Given the description of an element on the screen output the (x, y) to click on. 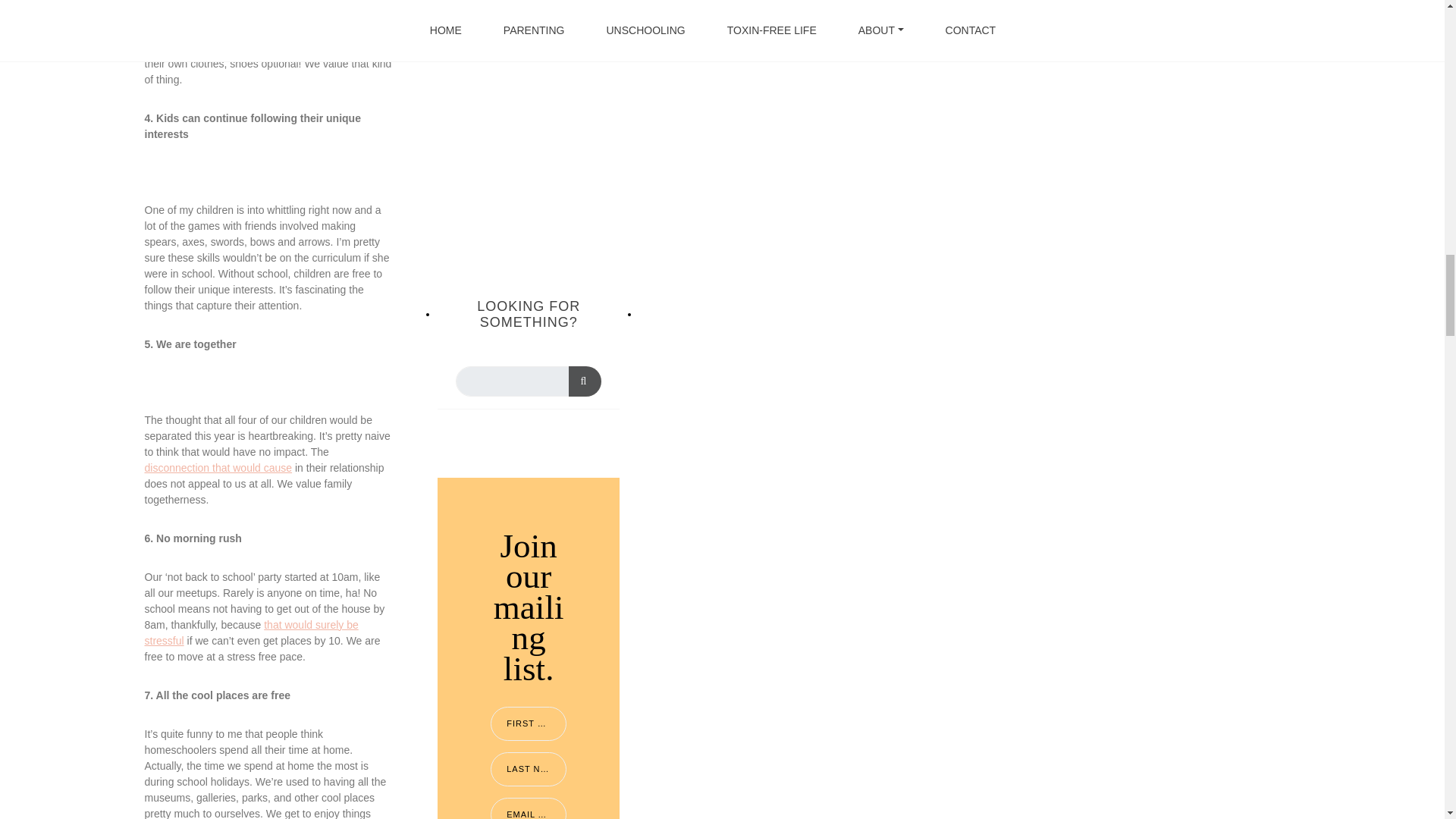
basic human rights (289, 15)
that would surely be stressful (251, 633)
disconnection that would cause (218, 467)
